Given the description of an element on the screen output the (x, y) to click on. 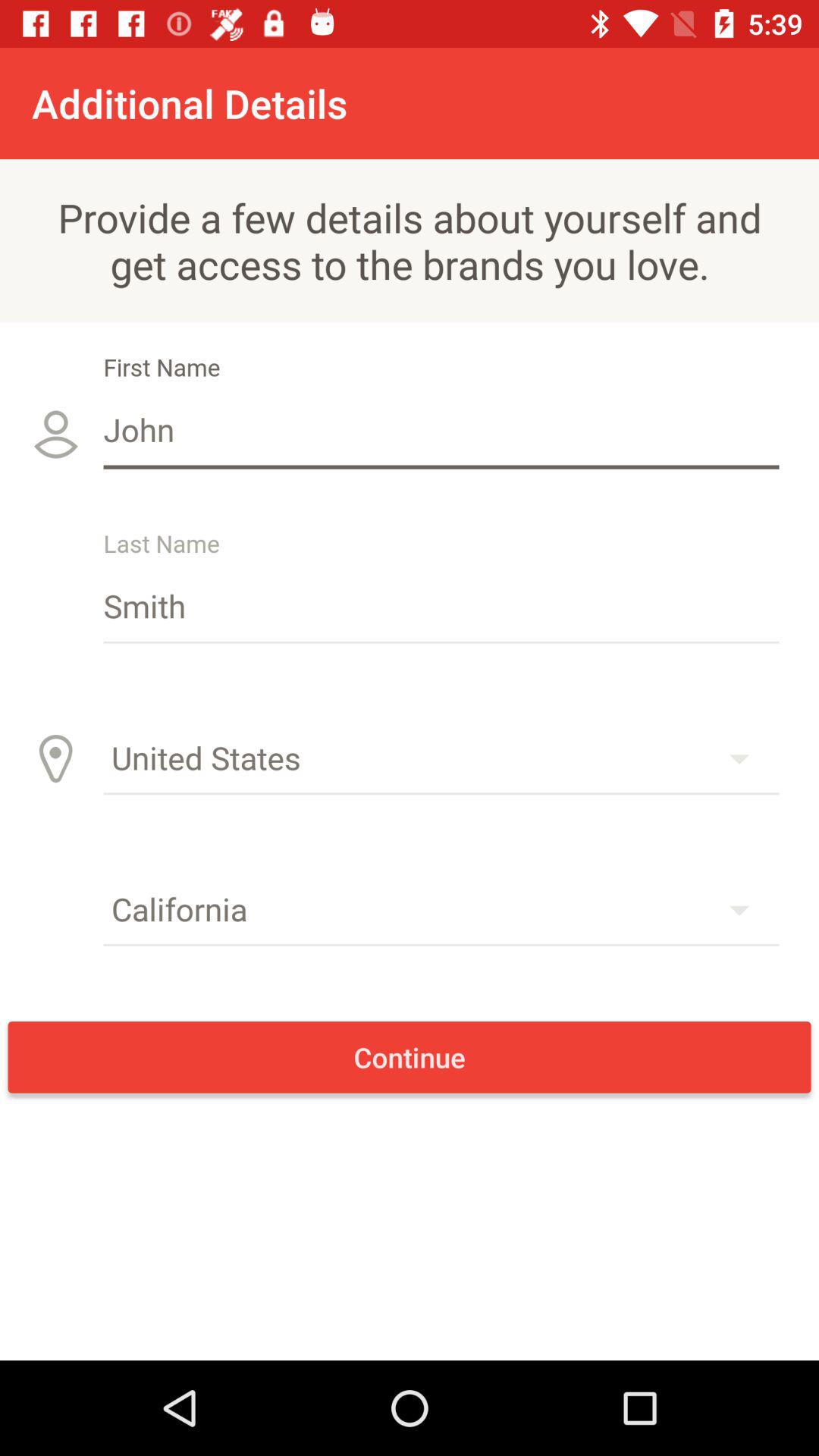
jump to the continue (409, 1057)
